Given the description of an element on the screen output the (x, y) to click on. 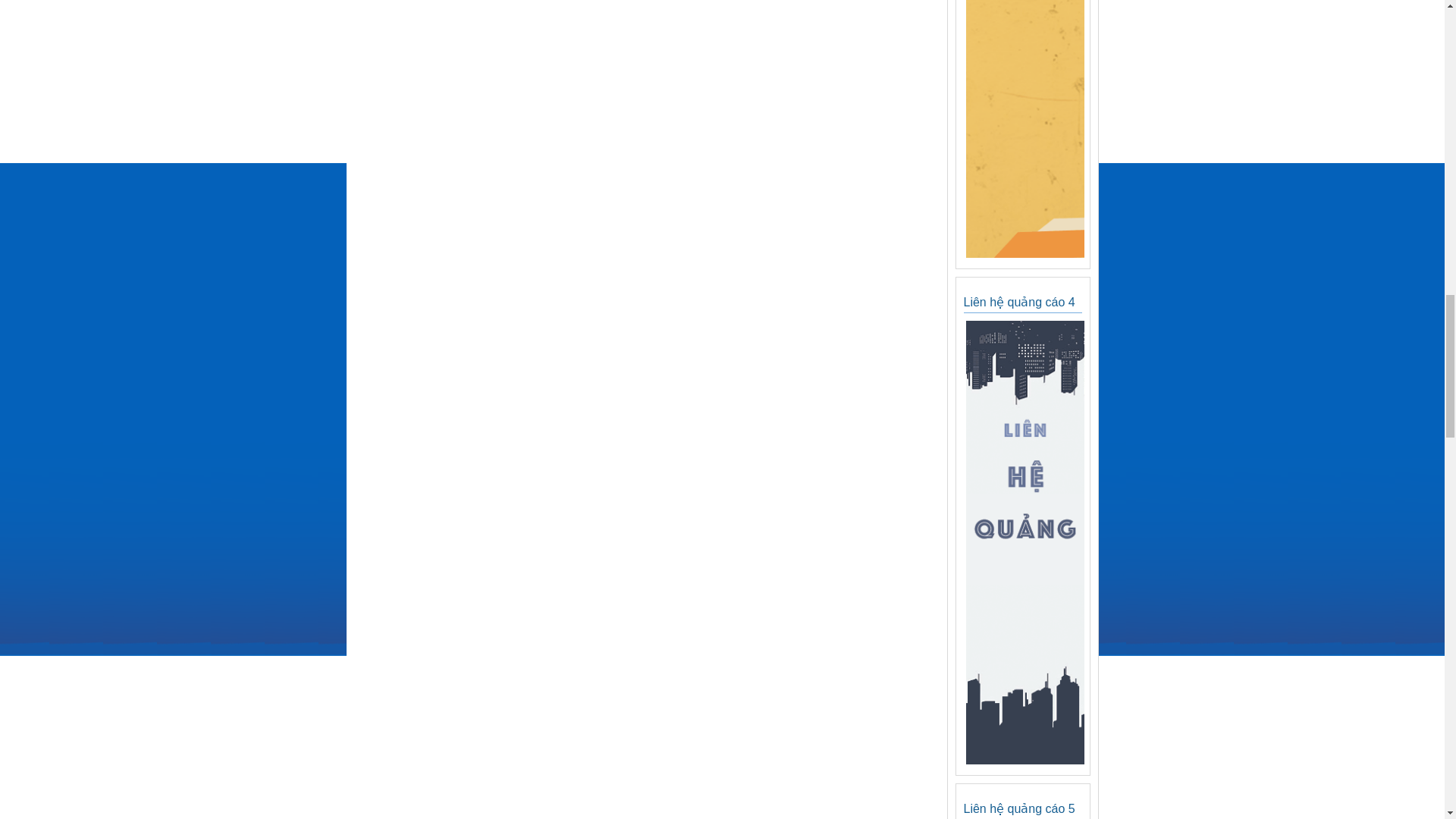
lien he dmec.vn (1024, 760)
lien he dmec.vn (1024, 254)
